Given the description of an element on the screen output the (x, y) to click on. 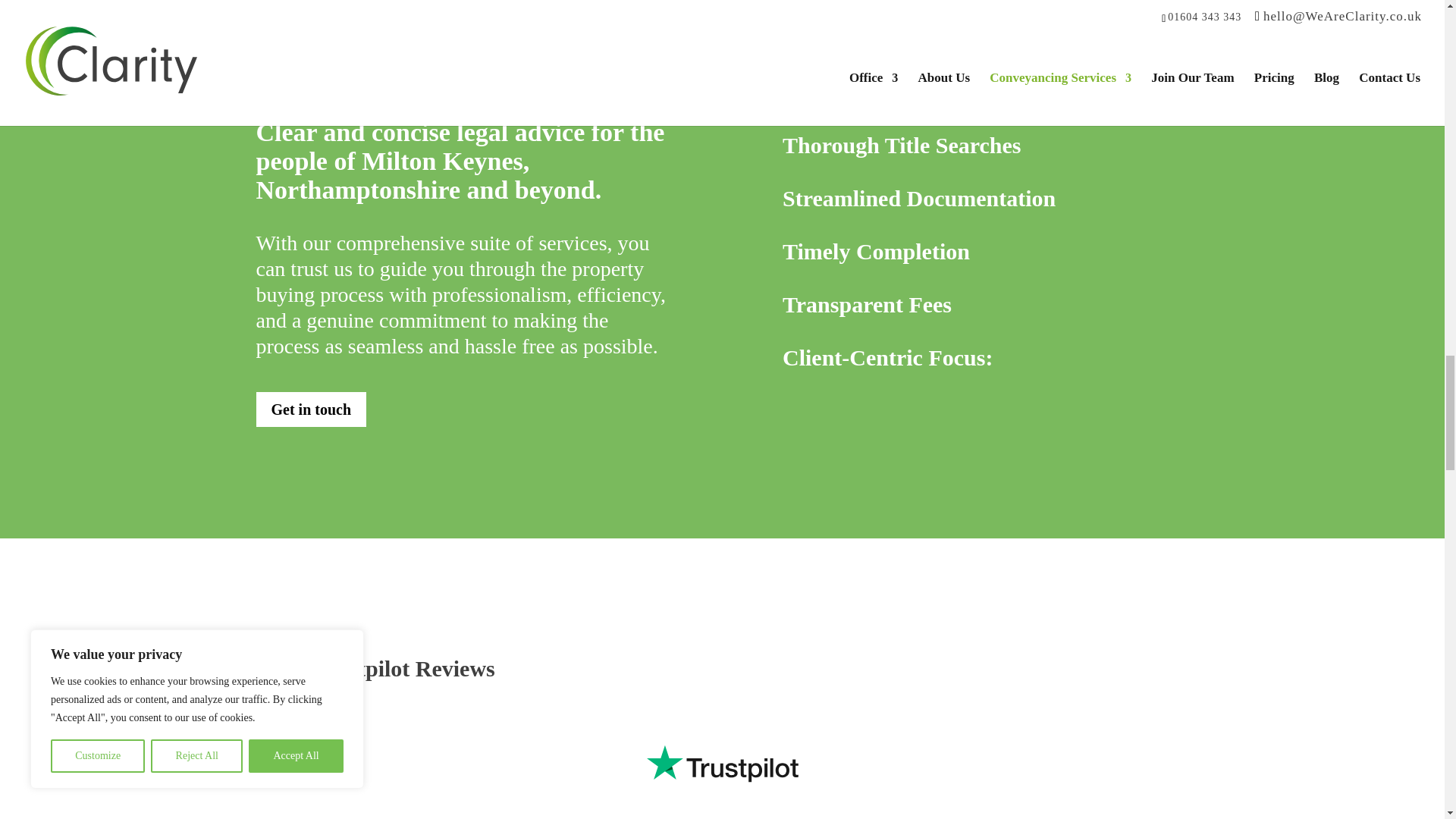
Customer reviews powered by Trustpilot (722, 763)
